Given the description of an element on the screen output the (x, y) to click on. 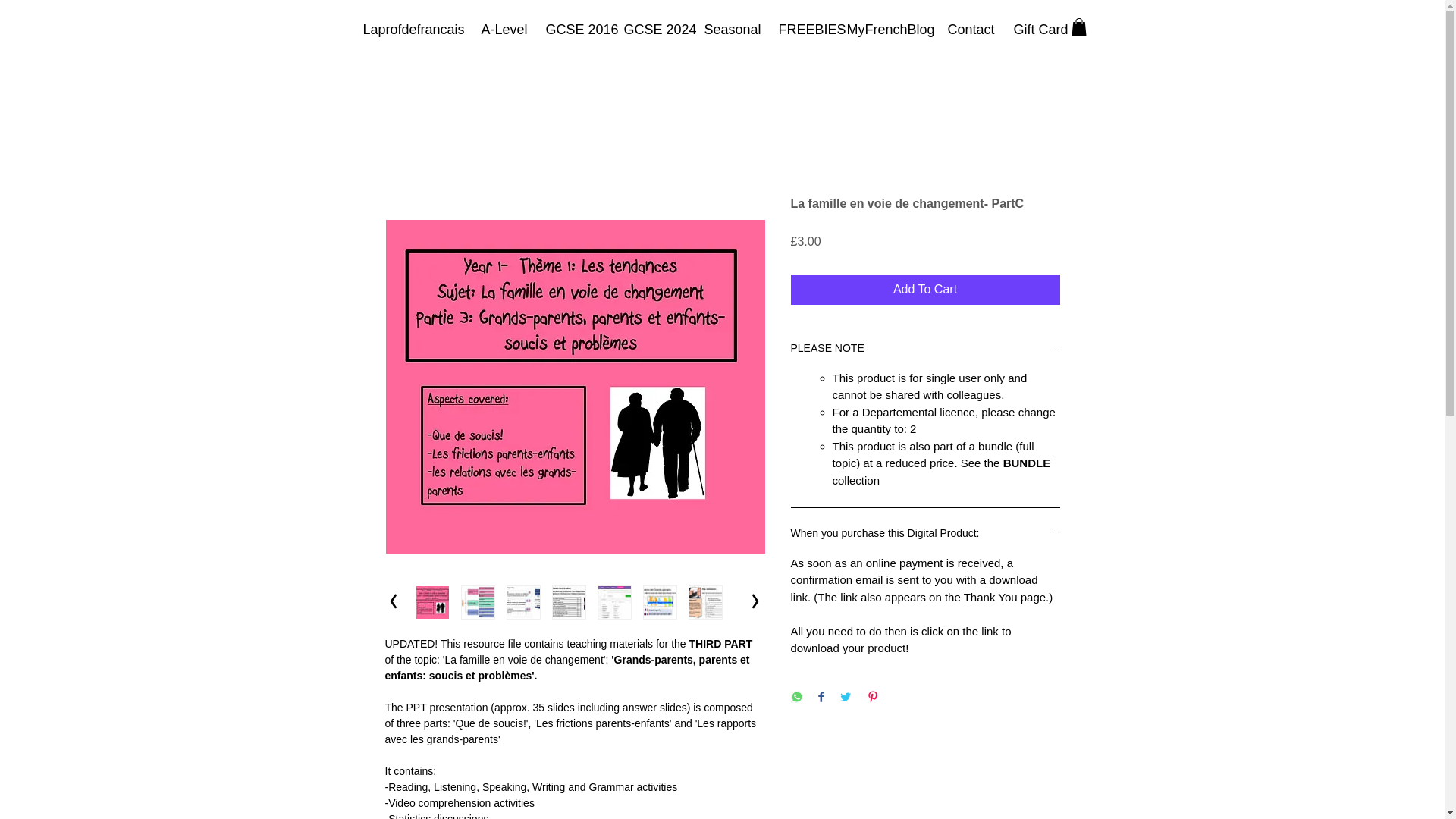
GCSE 2016 (572, 29)
Contact (968, 29)
MyFrenchBlog (885, 29)
GCSE 2024 (652, 29)
FREEBIES (801, 29)
Laprofdefrancais (411, 29)
Seasonal (730, 29)
A-Level (502, 29)
Gift Card (1037, 29)
